Given the description of an element on the screen output the (x, y) to click on. 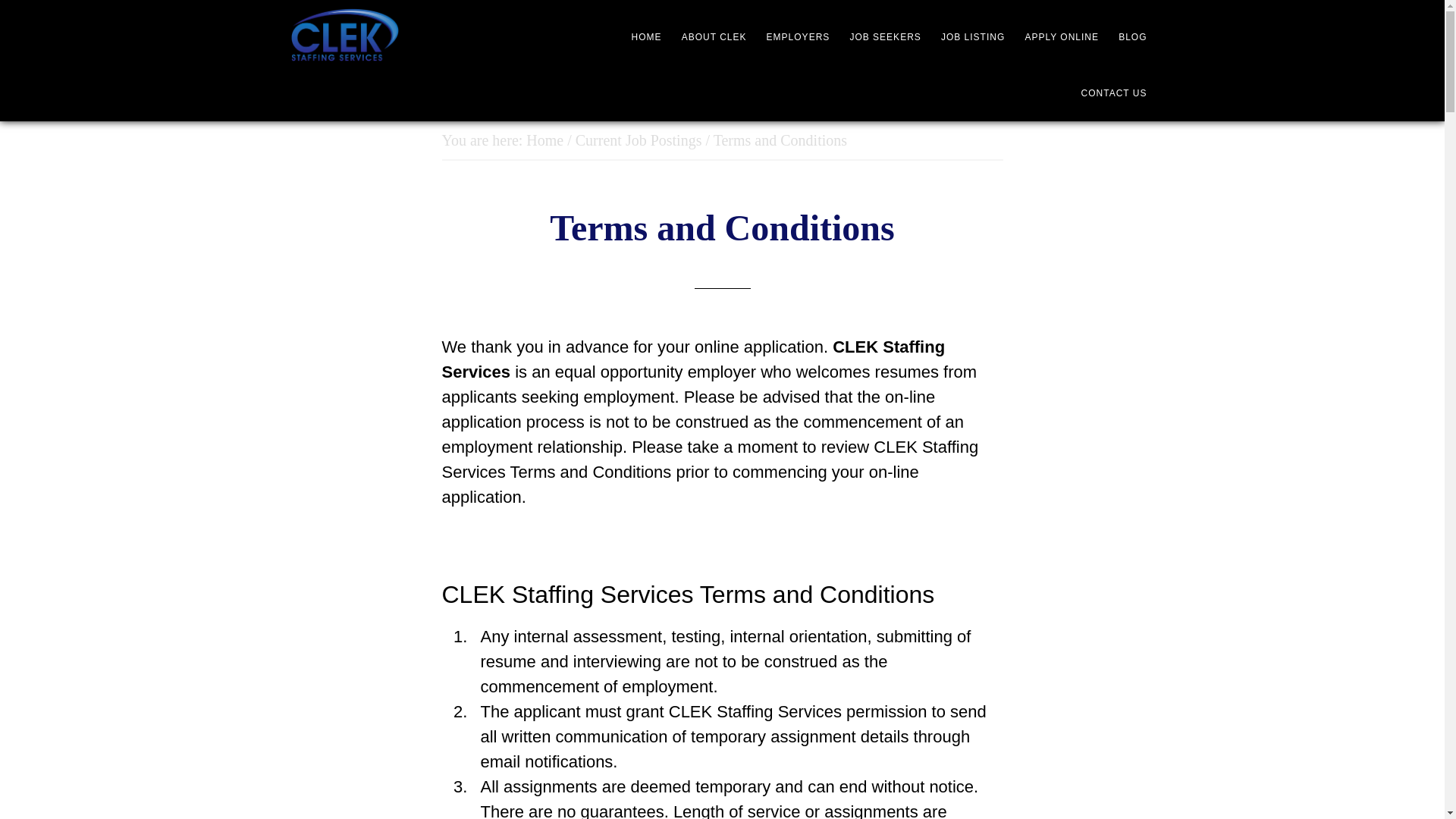
CONTACT US (1114, 93)
JOB SEEKERS (884, 37)
EMPLOYERS (798, 37)
ABOUT CLEK (714, 37)
Current Job Postings (638, 139)
CLEK STAFFING SERVICES (365, 34)
Home (544, 139)
APPLY ONLINE (1061, 37)
JOB LISTING (972, 37)
